Given the description of an element on the screen output the (x, y) to click on. 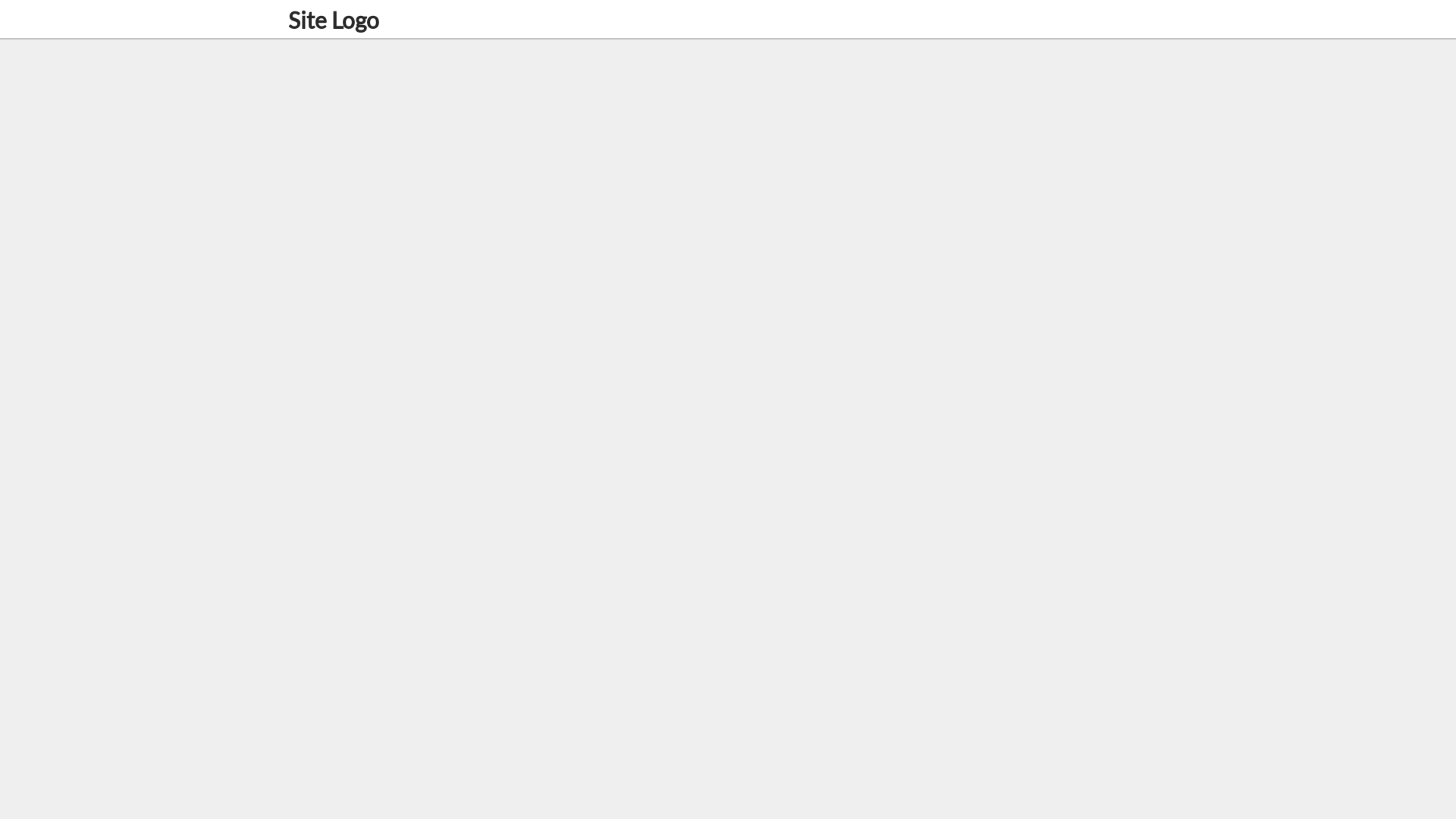
Site Logo Element type: text (333, 19)
